Given the description of an element on the screen output the (x, y) to click on. 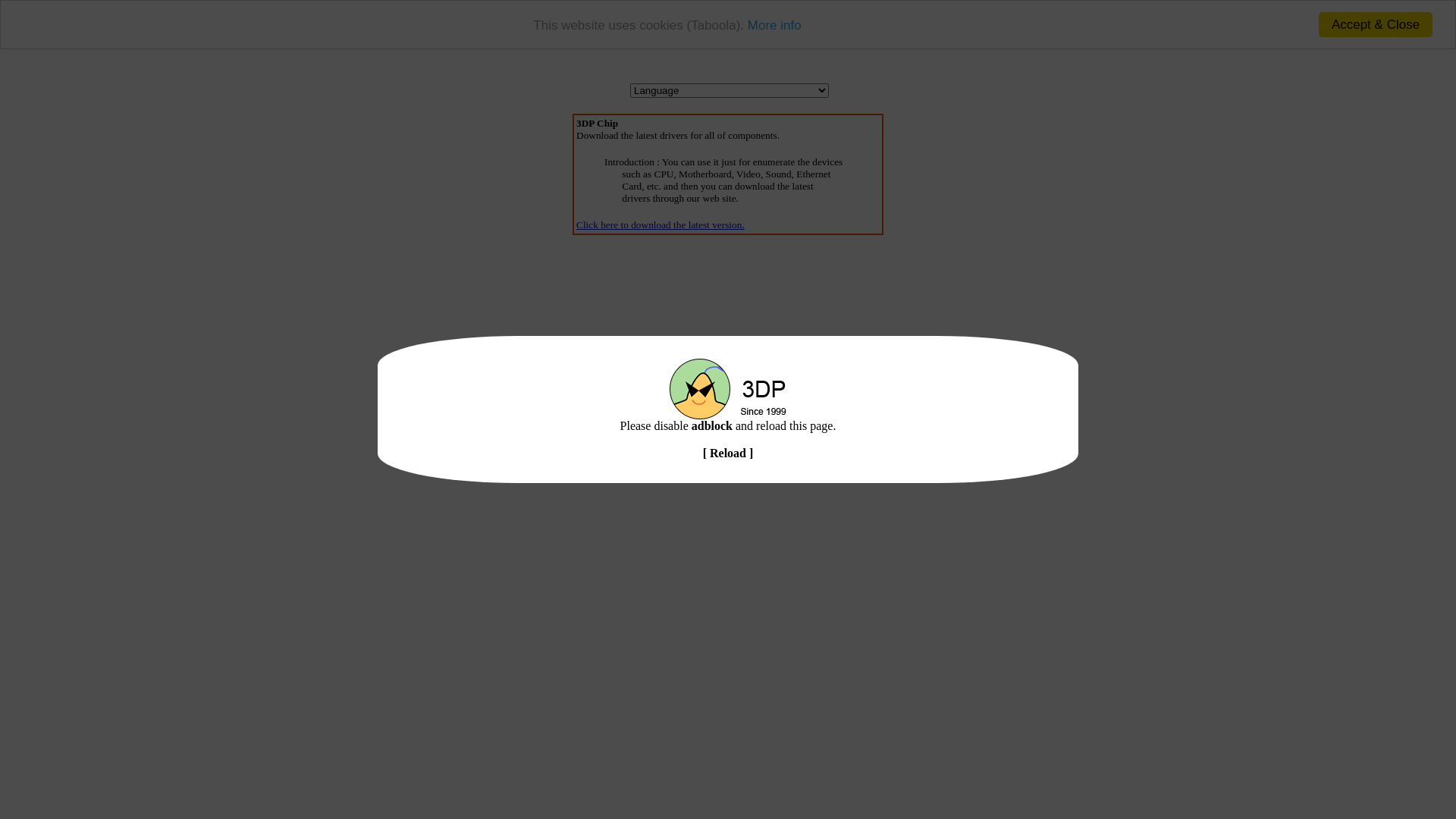
Click here to download the latest version. Element type: text (660, 224)
More info Element type: text (774, 25)
Accept & Close Element type: text (1375, 24)
[ Reload ] Element type: text (727, 452)
